Given the description of an element on the screen output the (x, y) to click on. 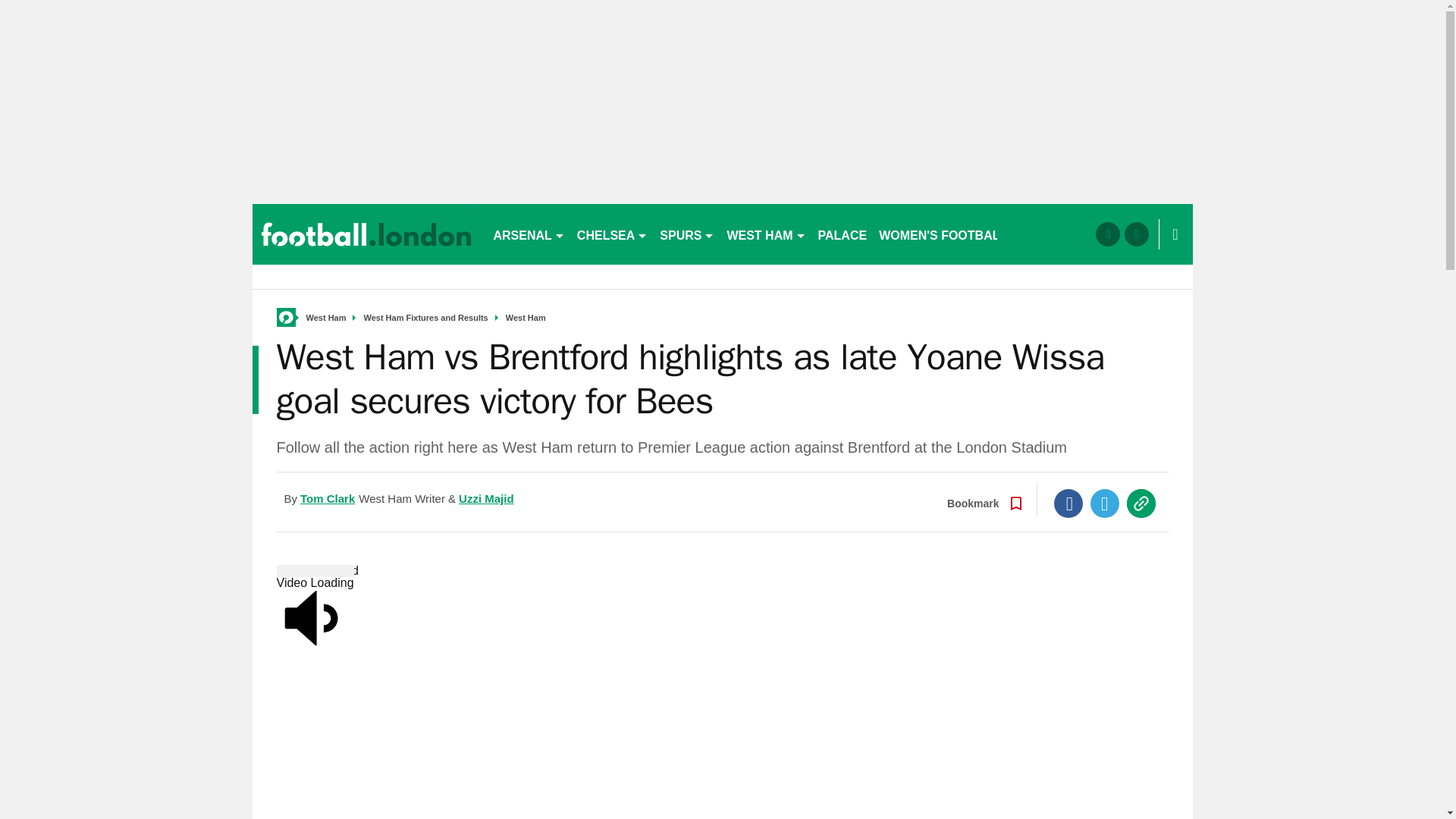
Facebook (1068, 502)
PALACE (842, 233)
facebook (1106, 233)
WOMEN'S FOOTBALL (942, 233)
Twitter (1104, 502)
WEST HAM (765, 233)
CHELSEA (611, 233)
SPURS (686, 233)
twitter (1136, 233)
ARSENAL (528, 233)
footballlondon (365, 233)
